Given the description of an element on the screen output the (x, y) to click on. 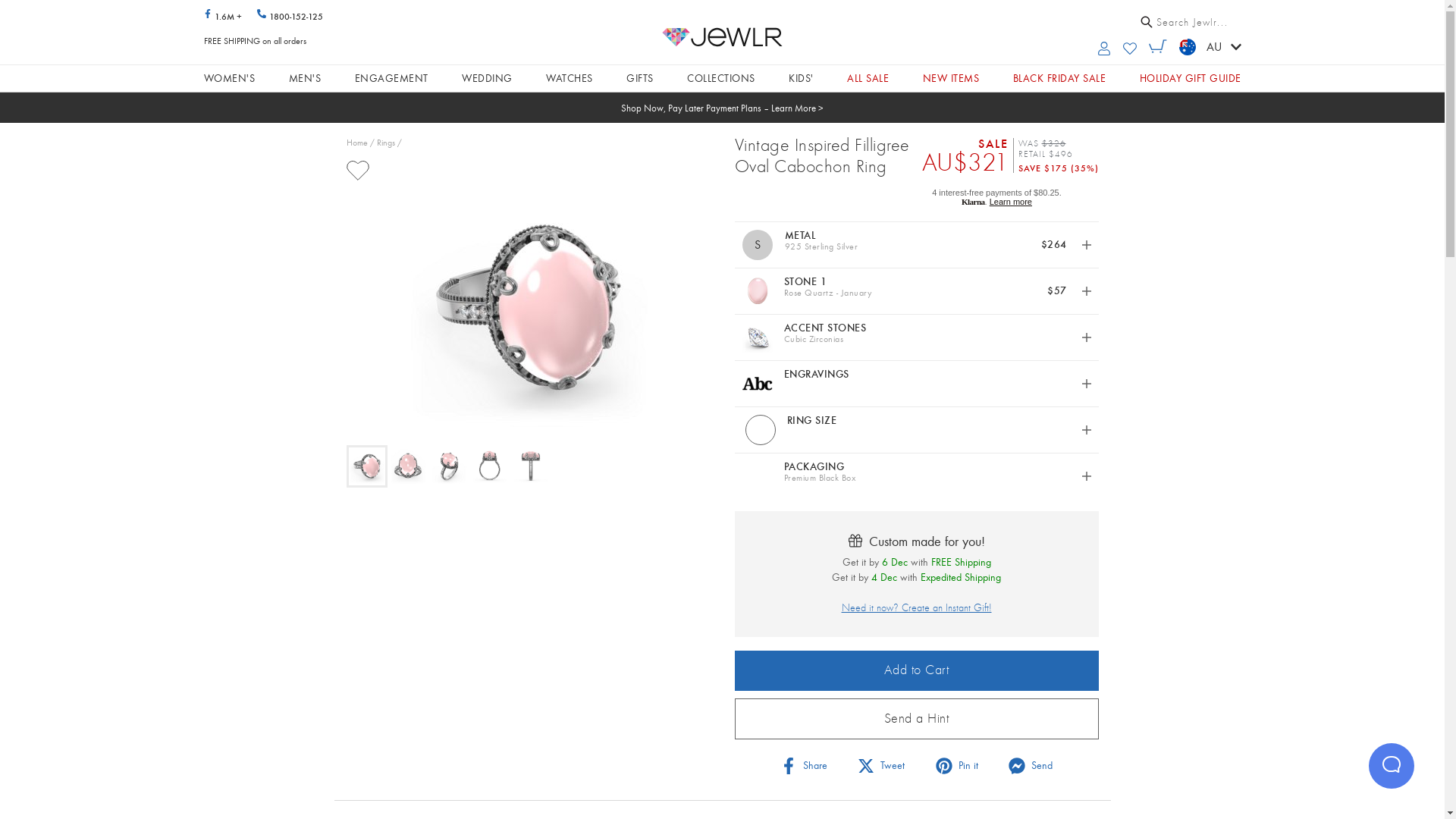
Cart Element type: hover (1157, 46)
FREE SHIPPING on all orders Element type: text (254, 40)
1800-152-125 Element type: text (289, 15)
BLACK FRIDAY SALE Element type: text (1059, 78)
Home Element type: text (356, 142)
Add to Cart Element type: text (916, 670)
Size Element type: hover (759, 429)
Send a Hint Element type: text (916, 719)
Free Shipping | 99-Day Returns | Free Gift Element type: text (722, 107)
HOLIDAY GIFT GUIDE Element type: text (1189, 78)
Rings Element type: text (385, 142)
NEW ITEMS Element type: text (950, 78)
1.6M + Element type: text (222, 15)
